Given the description of an element on the screen output the (x, y) to click on. 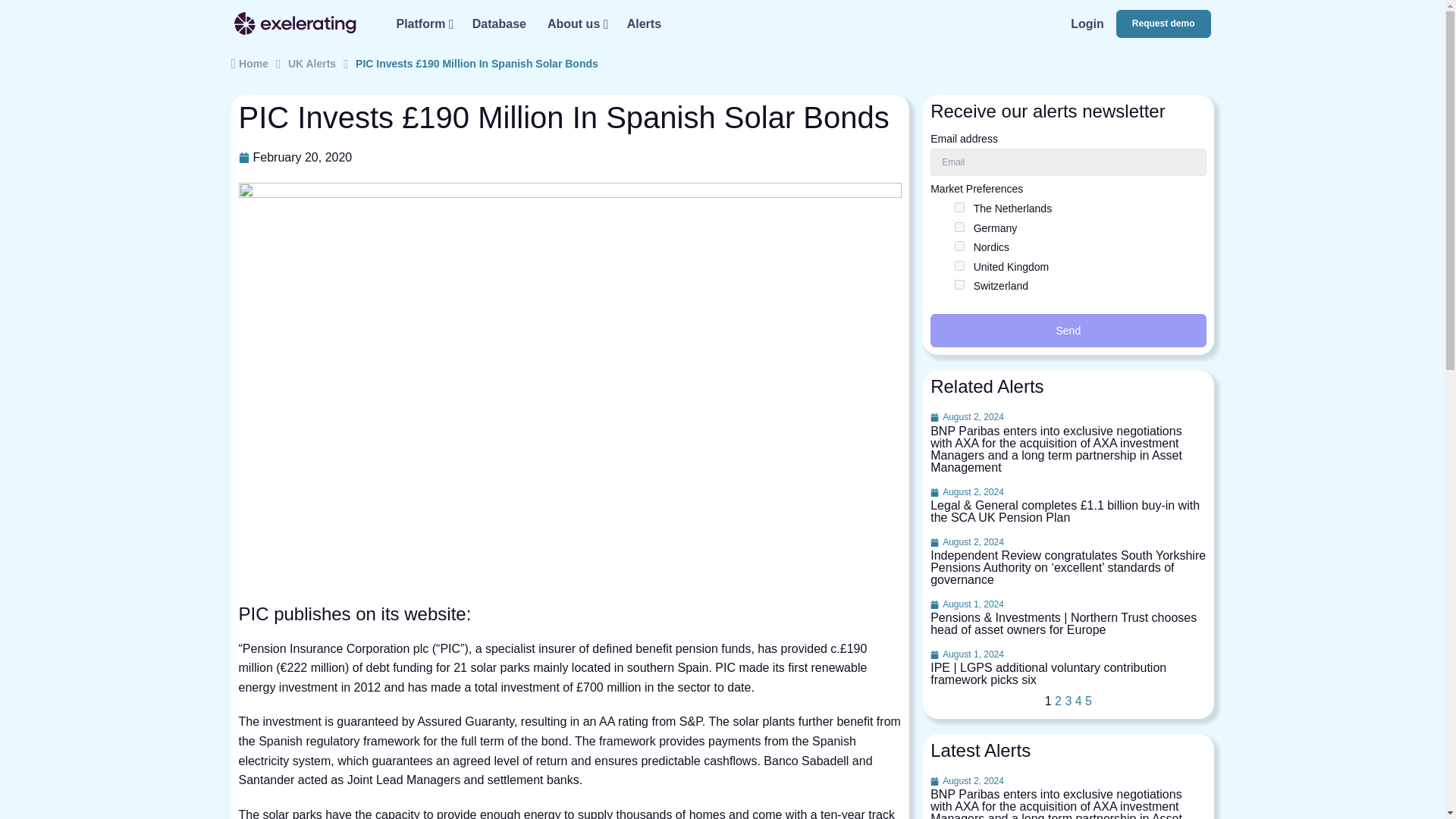
2 (959, 266)
Alerts (643, 23)
Database (499, 23)
Alerts (643, 23)
Login (1087, 23)
Home (248, 63)
About us (576, 23)
4 (959, 245)
Alerts (1087, 23)
Send (1067, 330)
About us (576, 23)
1 (959, 207)
Send (1067, 330)
Database (499, 23)
